Given the description of an element on the screen output the (x, y) to click on. 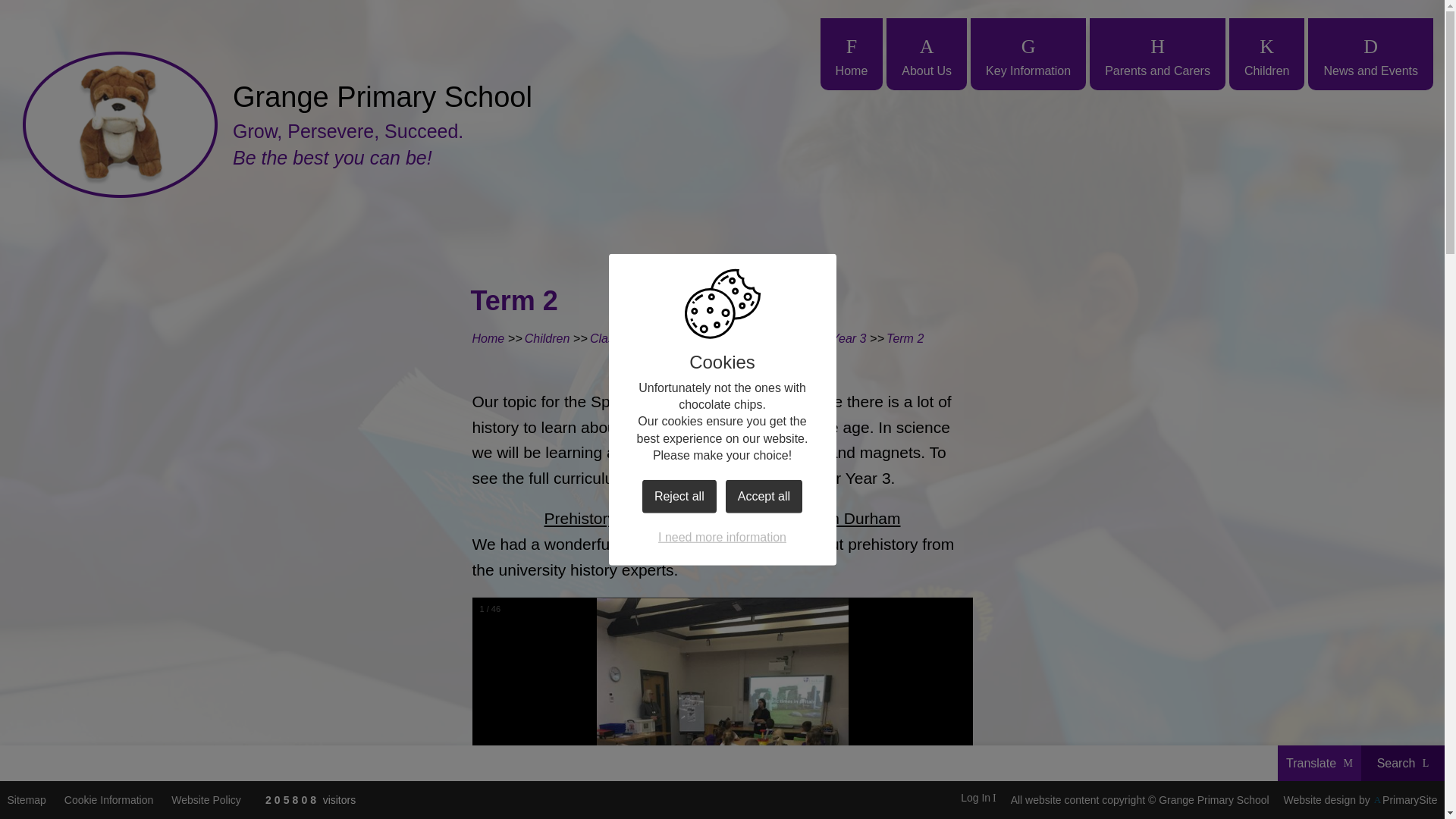
About Us (926, 54)
Key Information (1028, 54)
Home Page (119, 124)
